Given the description of an element on the screen output the (x, y) to click on. 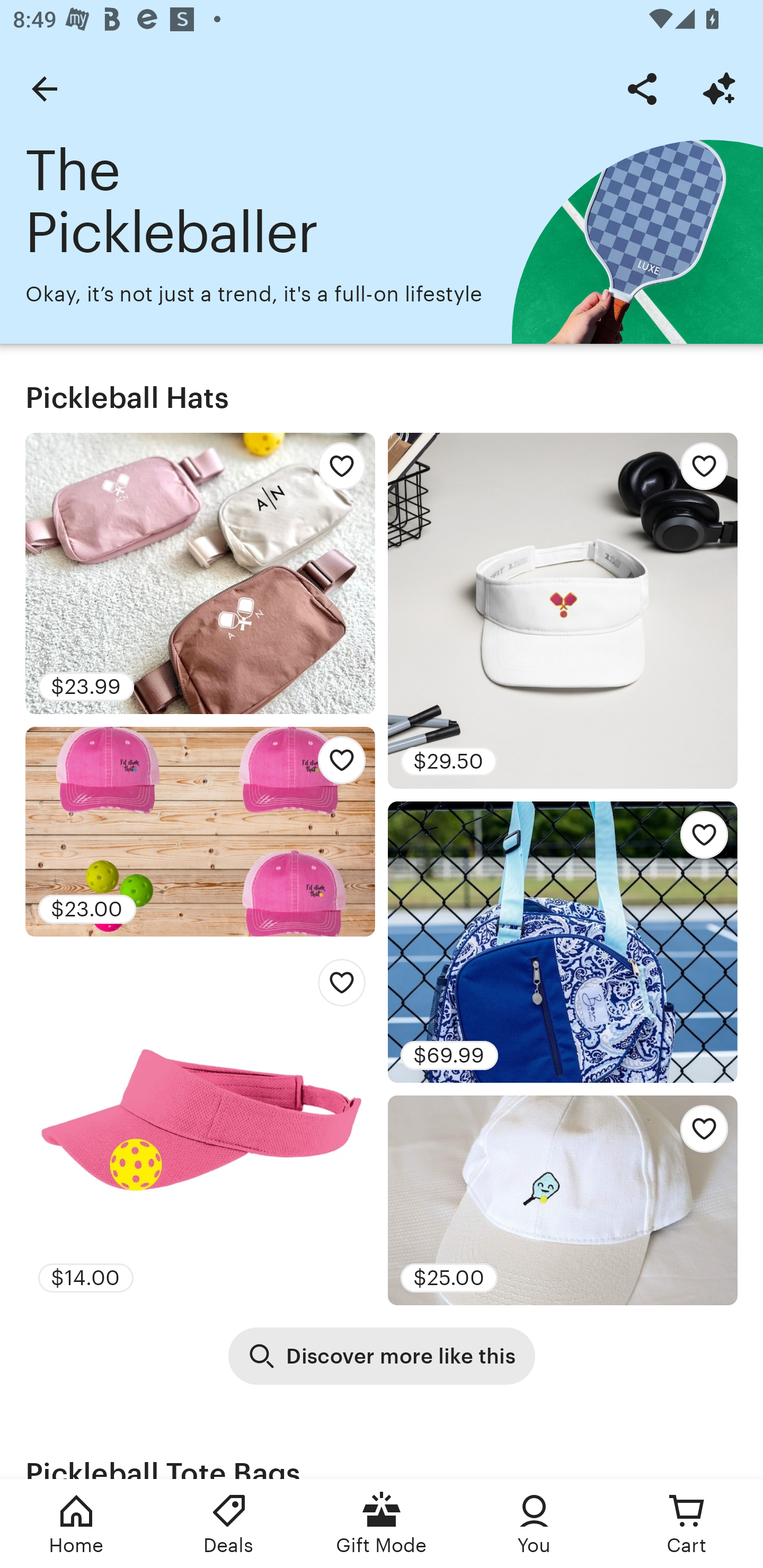
Back (44, 88)
$23.99 (200, 572)
$29.50 (562, 610)
$23.00 (200, 831)
$69.99 (562, 942)
$14.00 (200, 1126)
$25.00 (562, 1200)
Discover more like this (381, 1355)
Home (76, 1523)
Deals (228, 1523)
You (533, 1523)
Cart (686, 1523)
